Given the description of an element on the screen output the (x, y) to click on. 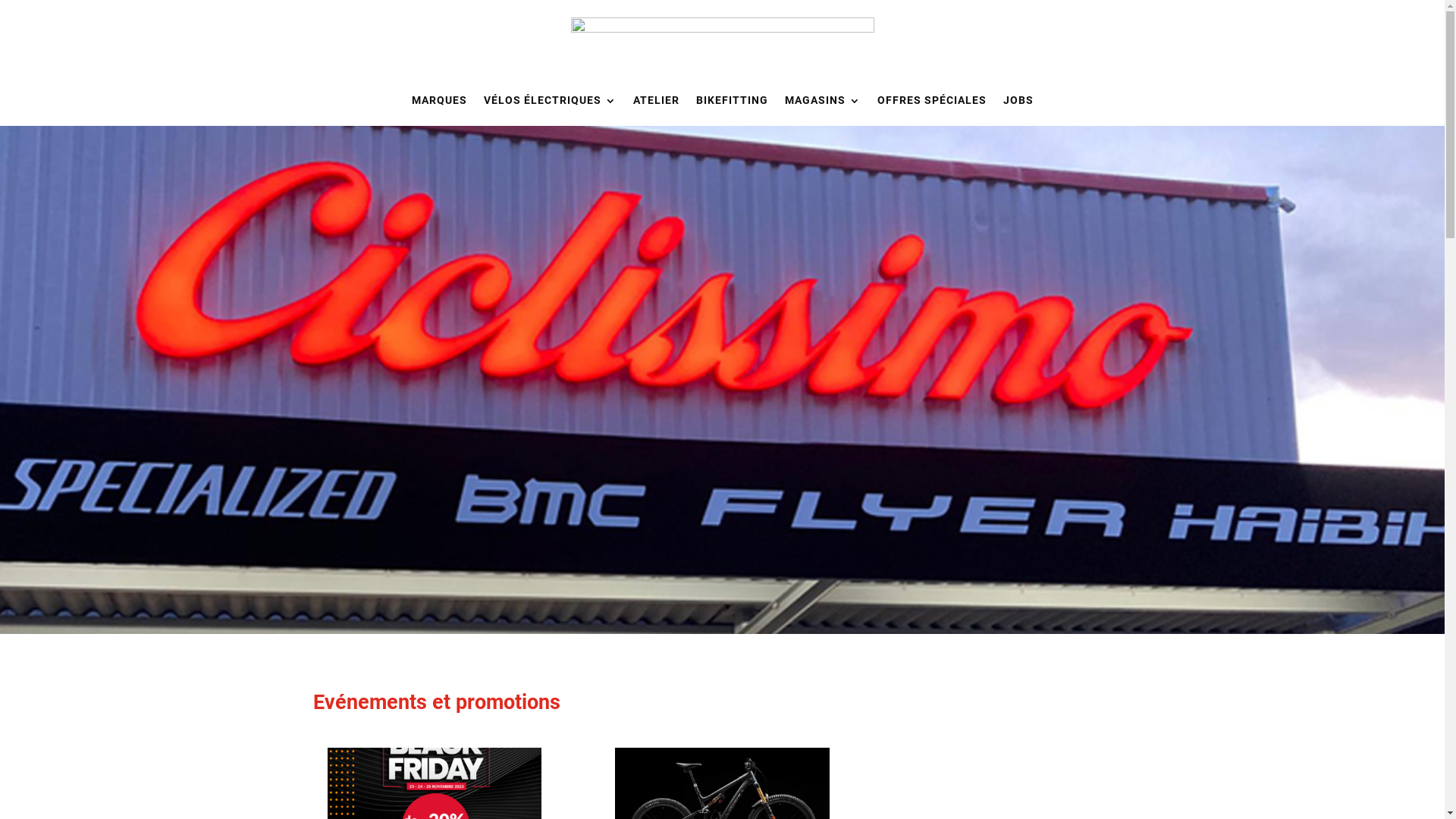
ATELIER Element type: text (655, 100)
JOBS Element type: text (1017, 100)
MARQUES Element type: text (438, 100)
MAGASINS Element type: text (821, 100)
ciclissimo_chablais Element type: hover (722, 379)
BIKEFITTING Element type: text (732, 100)
